Given the description of an element on the screen output the (x, y) to click on. 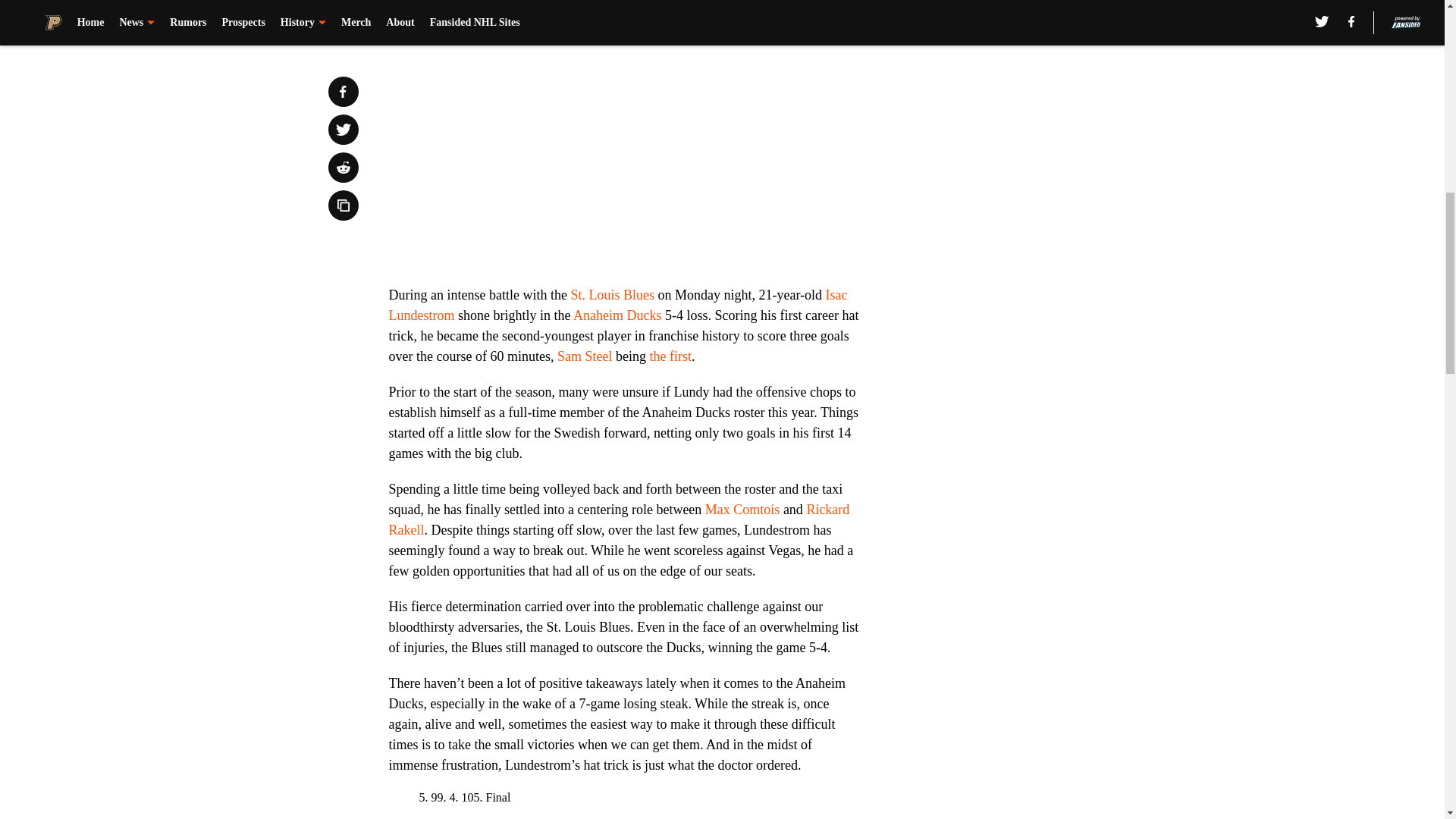
Isac Lundestrom (617, 304)
Max Comtois (742, 509)
Anaheim Ducks (617, 314)
Sam Steel (584, 355)
Rickard Rakell (618, 519)
St. Louis Blues (611, 294)
the first (670, 355)
